Given the description of an element on the screen output the (x, y) to click on. 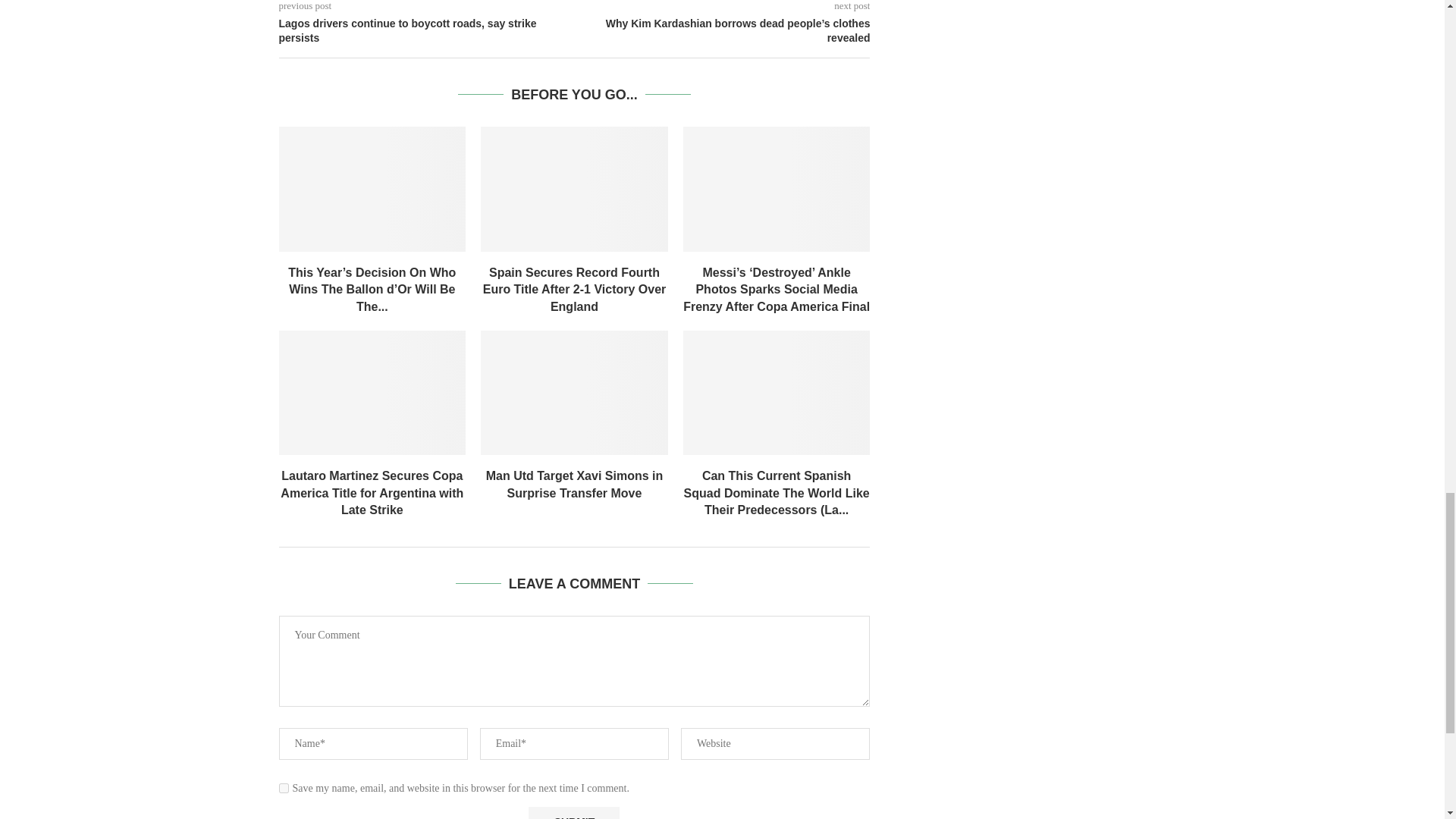
Submit (574, 812)
Man Utd Target Xavi Simons in Surprise Transfer Move (574, 392)
yes (283, 787)
